Given the description of an element on the screen output the (x, y) to click on. 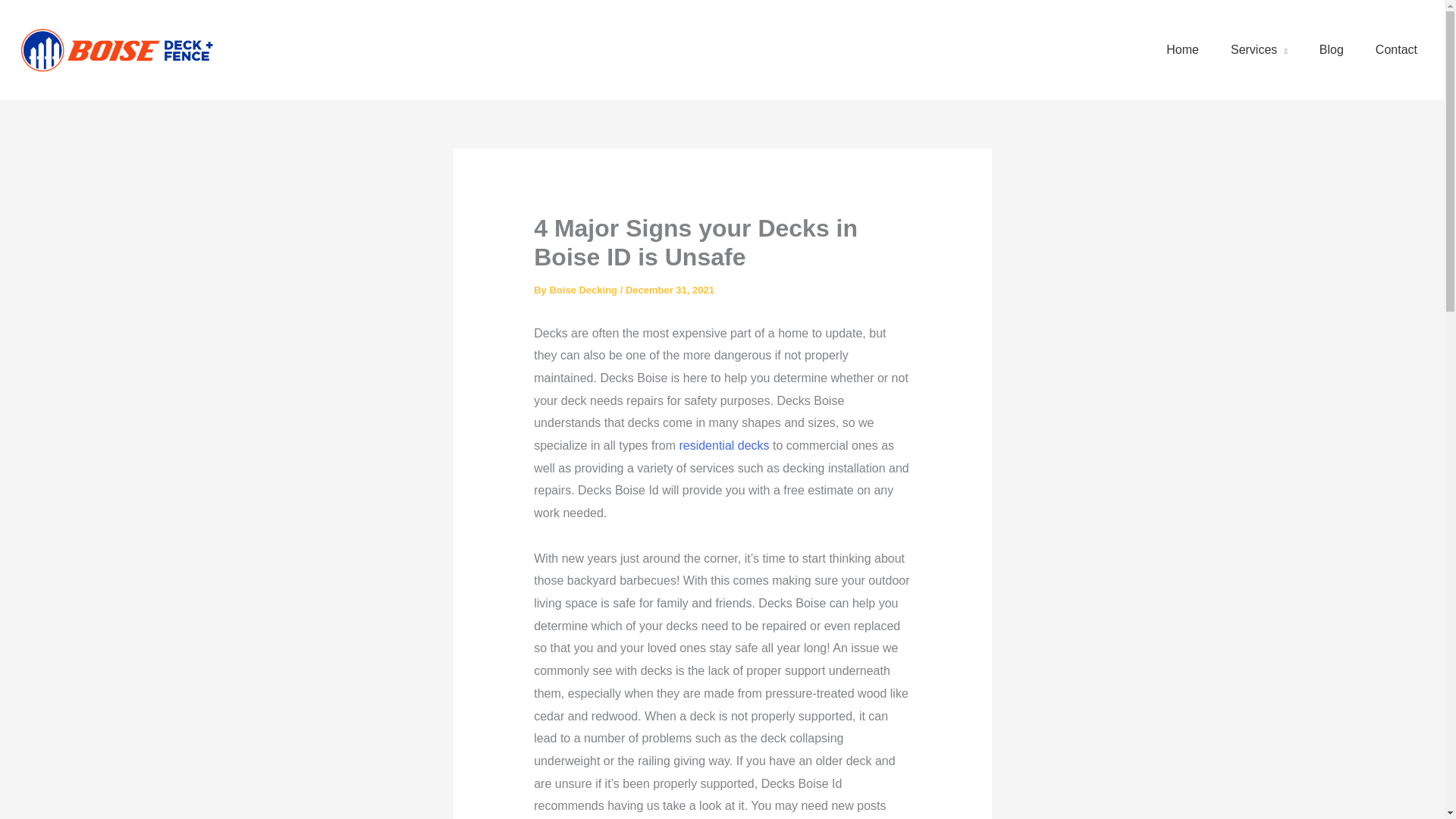
residential decks (723, 445)
Boise Decking (584, 289)
Blog (1331, 49)
View all posts by Boise Decking (584, 289)
Home (1182, 49)
Contact (1395, 49)
Services (1259, 49)
